Given the description of an element on the screen output the (x, y) to click on. 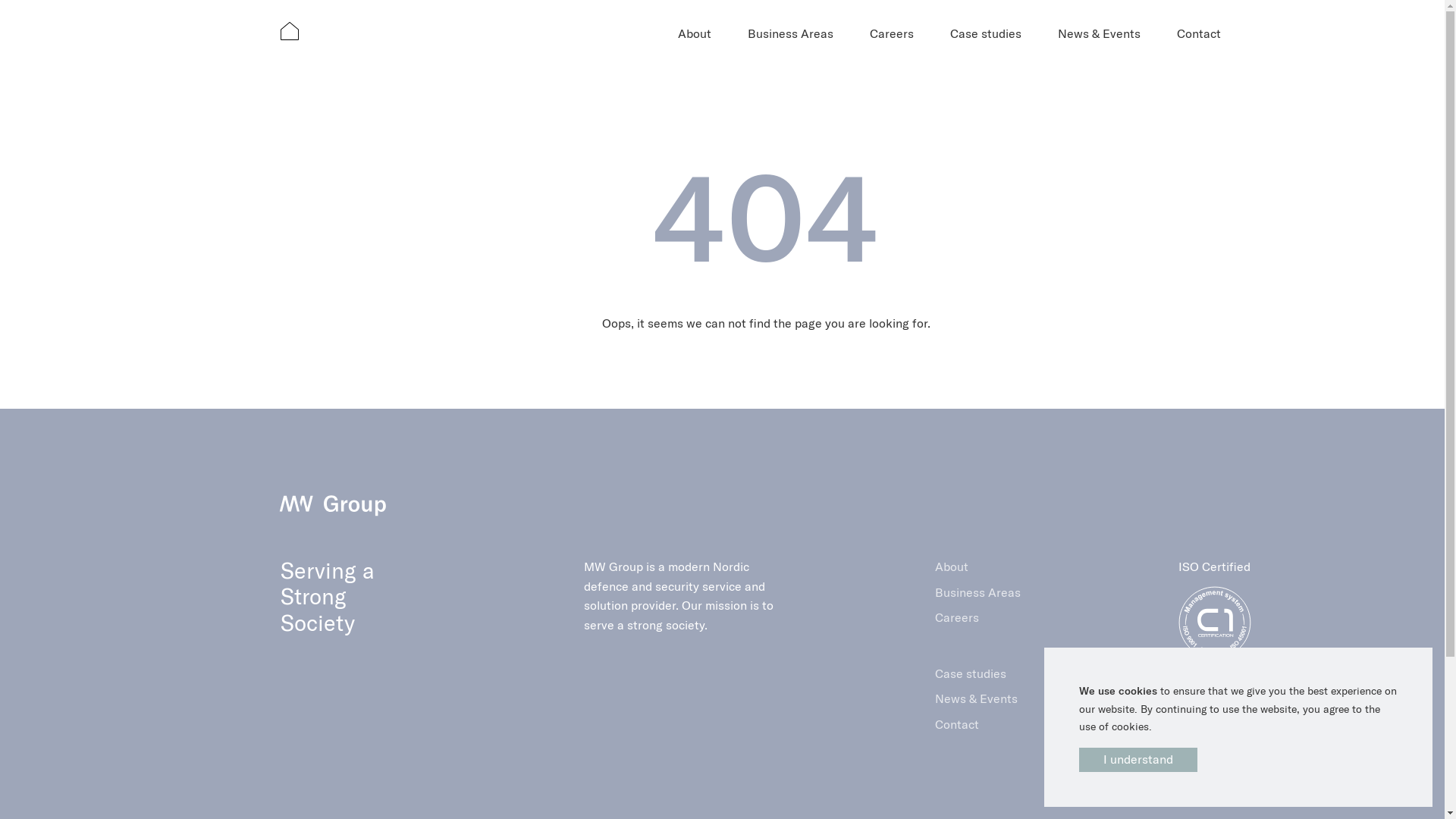
News & Events Element type: text (977, 699)
Business Areas Element type: text (977, 592)
Case studies Element type: text (977, 674)
Careers Element type: text (891, 34)
Case studies Element type: text (985, 34)
News & Events Element type: text (1098, 34)
About Element type: text (977, 567)
Business Areas Element type: text (790, 34)
Contact Element type: text (1198, 34)
Contact Element type: text (977, 724)
I understand Element type: text (1138, 759)
Careers Element type: text (977, 617)
About Element type: text (694, 34)
